Given the description of an element on the screen output the (x, y) to click on. 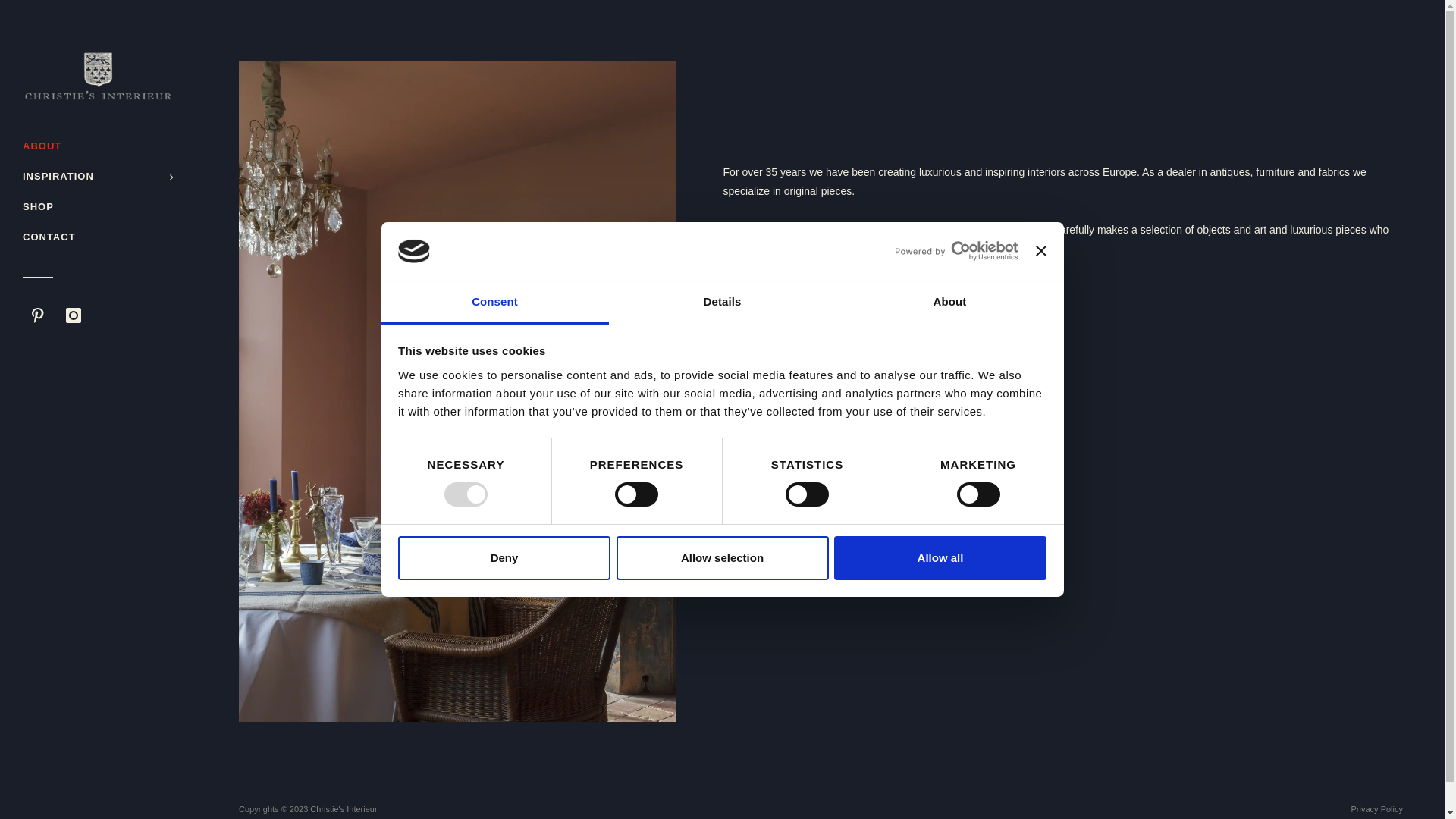
SHOP Element type: text (98, 206)
About Element type: text (949, 302)
CONTACT Element type: text (98, 236)
Consent Element type: text (494, 302)
Allow all Element type: text (940, 558)
Privacy Policy Element type: text (1376, 810)
ABOUT Element type: text (98, 145)
INSPIRATION Element type: text (98, 175)
Deny Element type: text (504, 558)
Allow selection Element type: text (721, 558)
SHOP ONLINE Element type: text (785, 300)
Details Element type: text (721, 302)
Christie's Interieur on Instagram Element type: hover (73, 315)
Logo Christie's Interieur dealer in antiques Element type: hover (98, 75)
Christie's Interieur on Pinterest Element type: hover (37, 315)
